Given the description of an element on the screen output the (x, y) to click on. 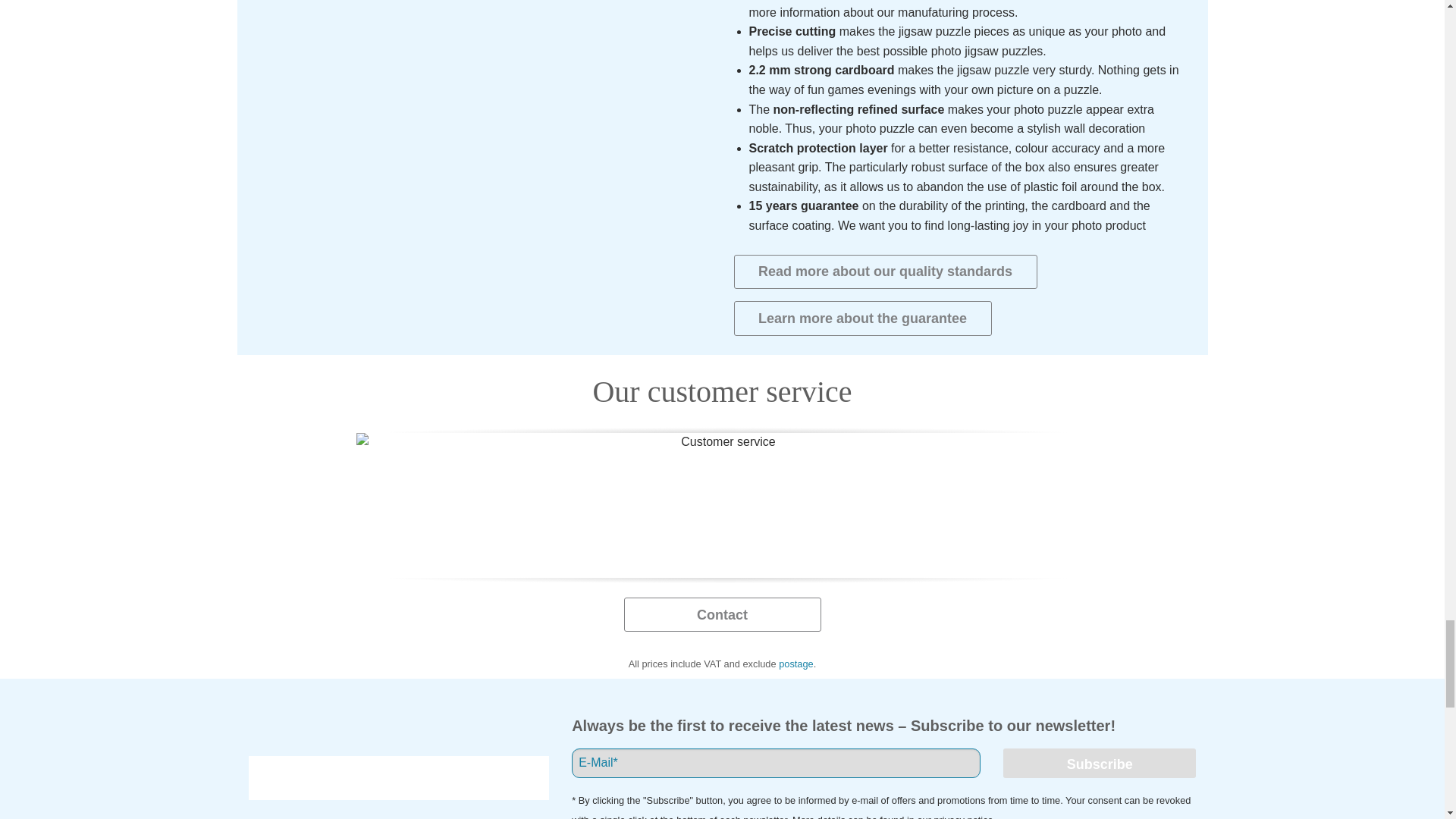
Subscribe (1099, 763)
